Given the description of an element on the screen output the (x, y) to click on. 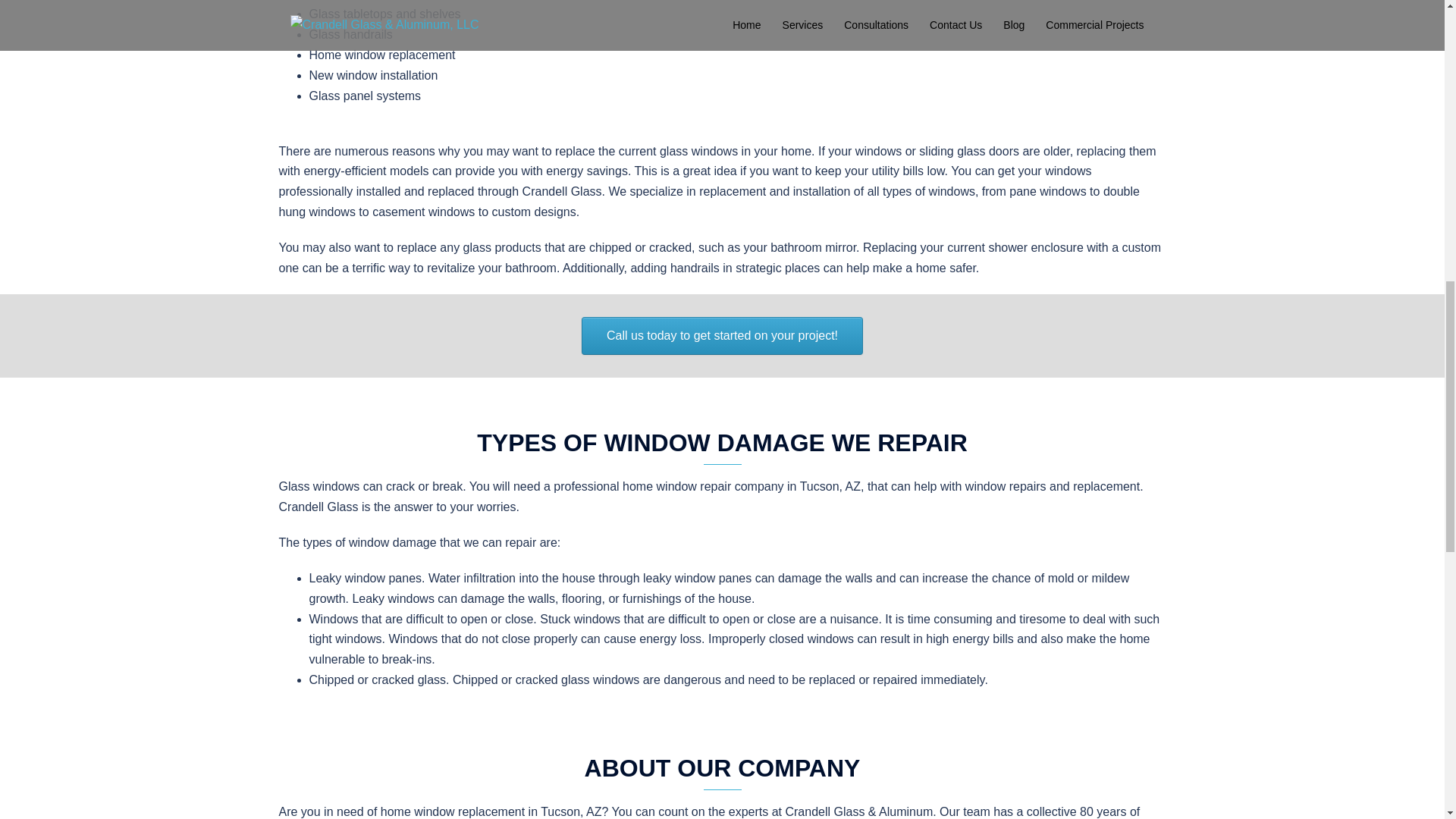
Call us today to get started on your project! (721, 335)
fireplace corner (1025, 12)
